Given the description of an element on the screen output the (x, y) to click on. 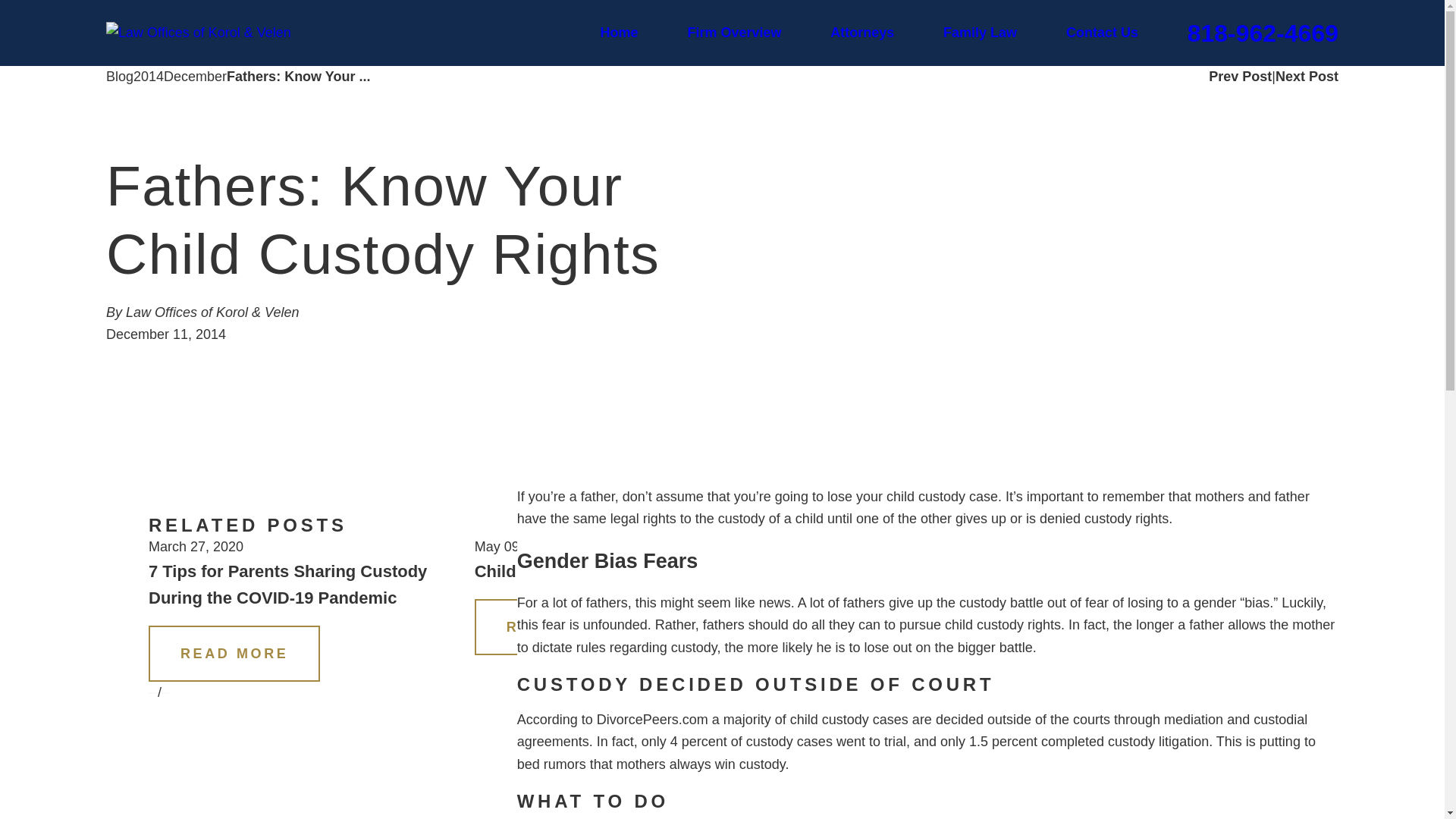
Home (619, 33)
Open the accessibility options menu (20, 798)
Blog (119, 77)
2014 (148, 77)
Firm Overview (733, 33)
Contact Us (1101, 33)
818-962-4669 (1263, 33)
Family Law (979, 33)
Attorneys (861, 33)
